Given the description of an element on the screen output the (x, y) to click on. 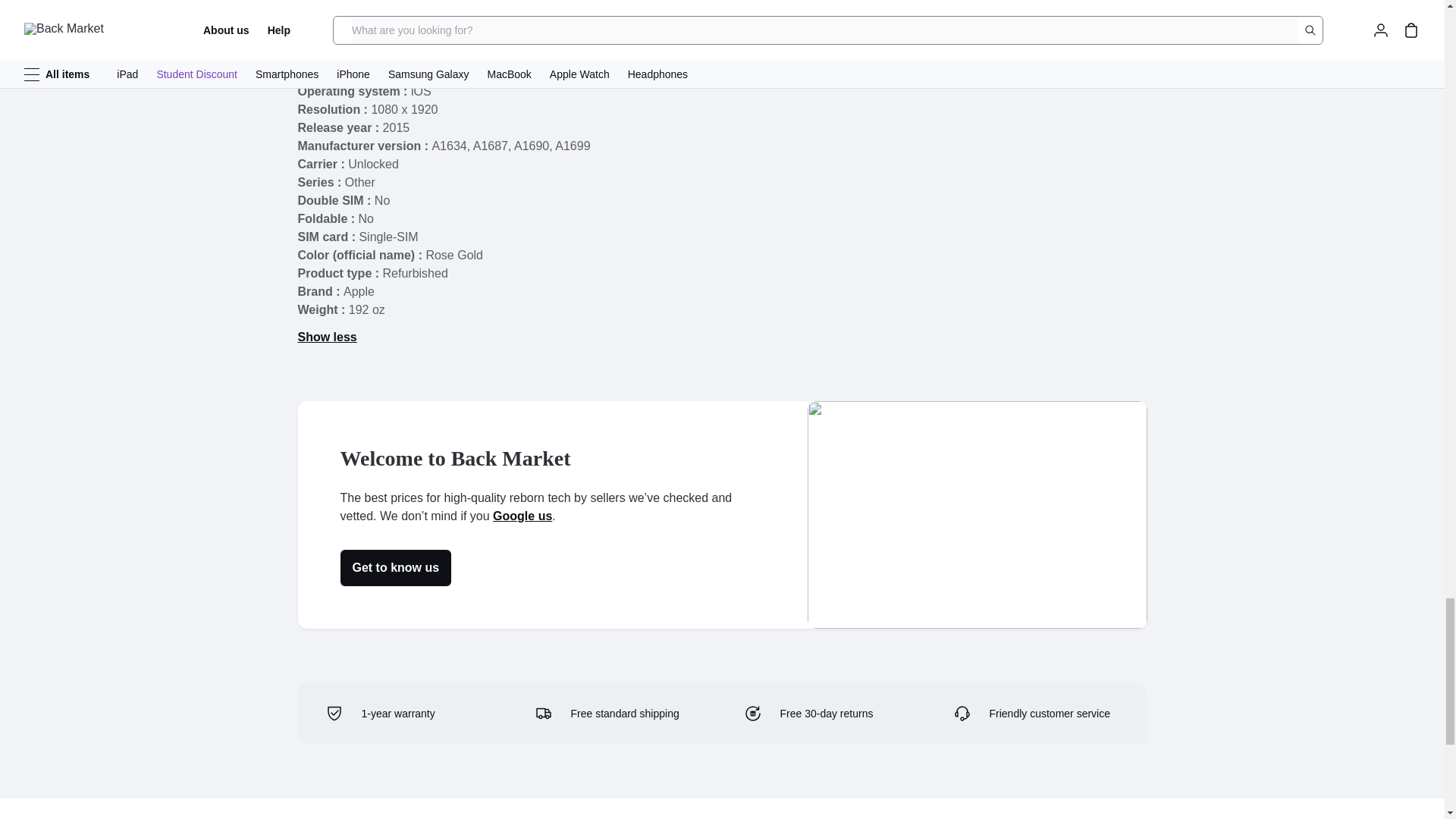
Google us (522, 515)
Show less (326, 337)
Get to know us (395, 567)
